Given the description of an element on the screen output the (x, y) to click on. 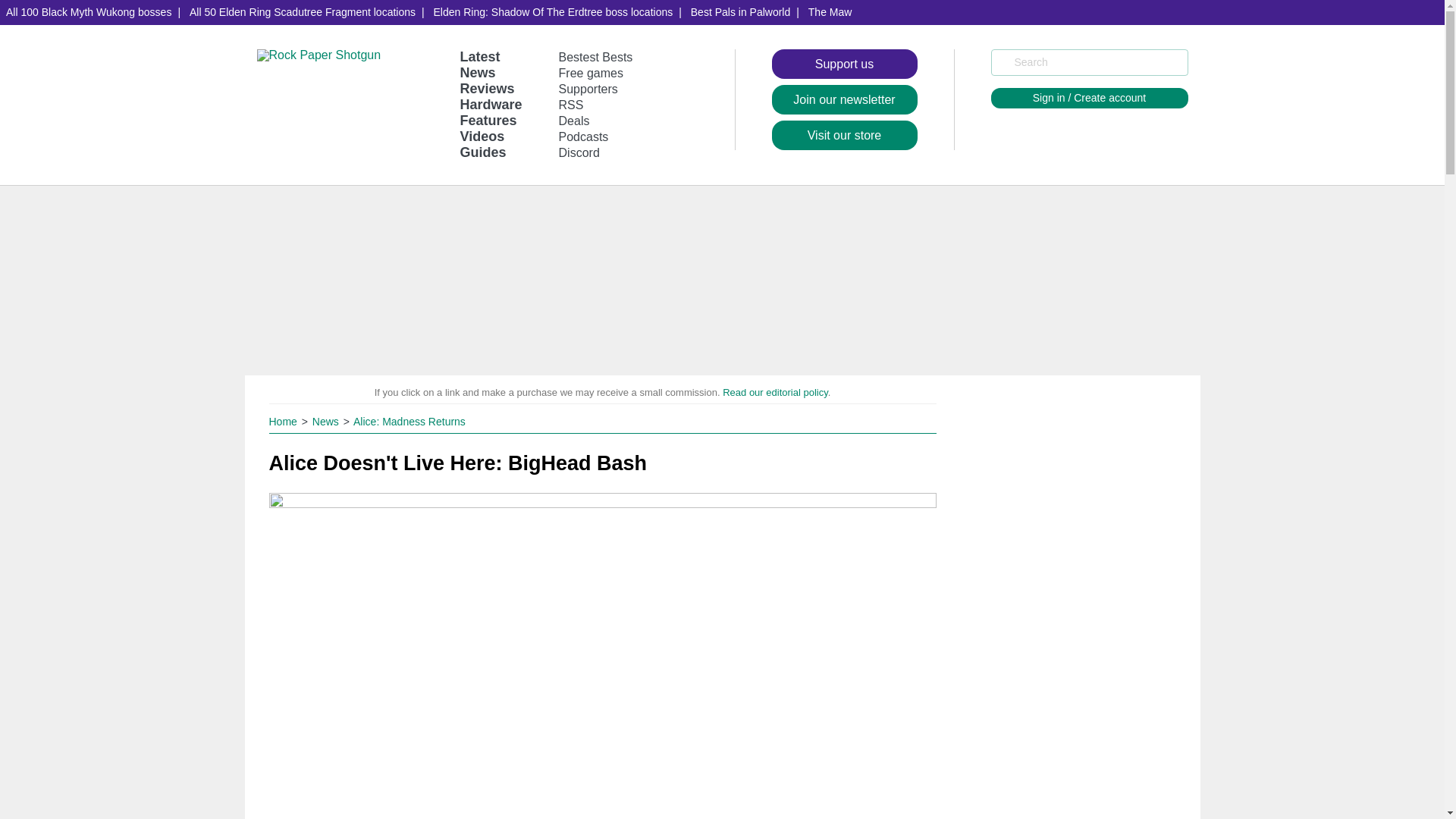
Bestest Bests (596, 56)
Supporters (588, 88)
Reviews (486, 88)
RSS (571, 104)
All 50 Elden Ring Scadutree Fragment locations (302, 12)
The Maw (830, 12)
Supporters (588, 88)
Join our newsletter (844, 99)
Podcasts (583, 136)
Elden Ring: Shadow Of The Erdtree boss locations (553, 12)
